Given the description of an element on the screen output the (x, y) to click on. 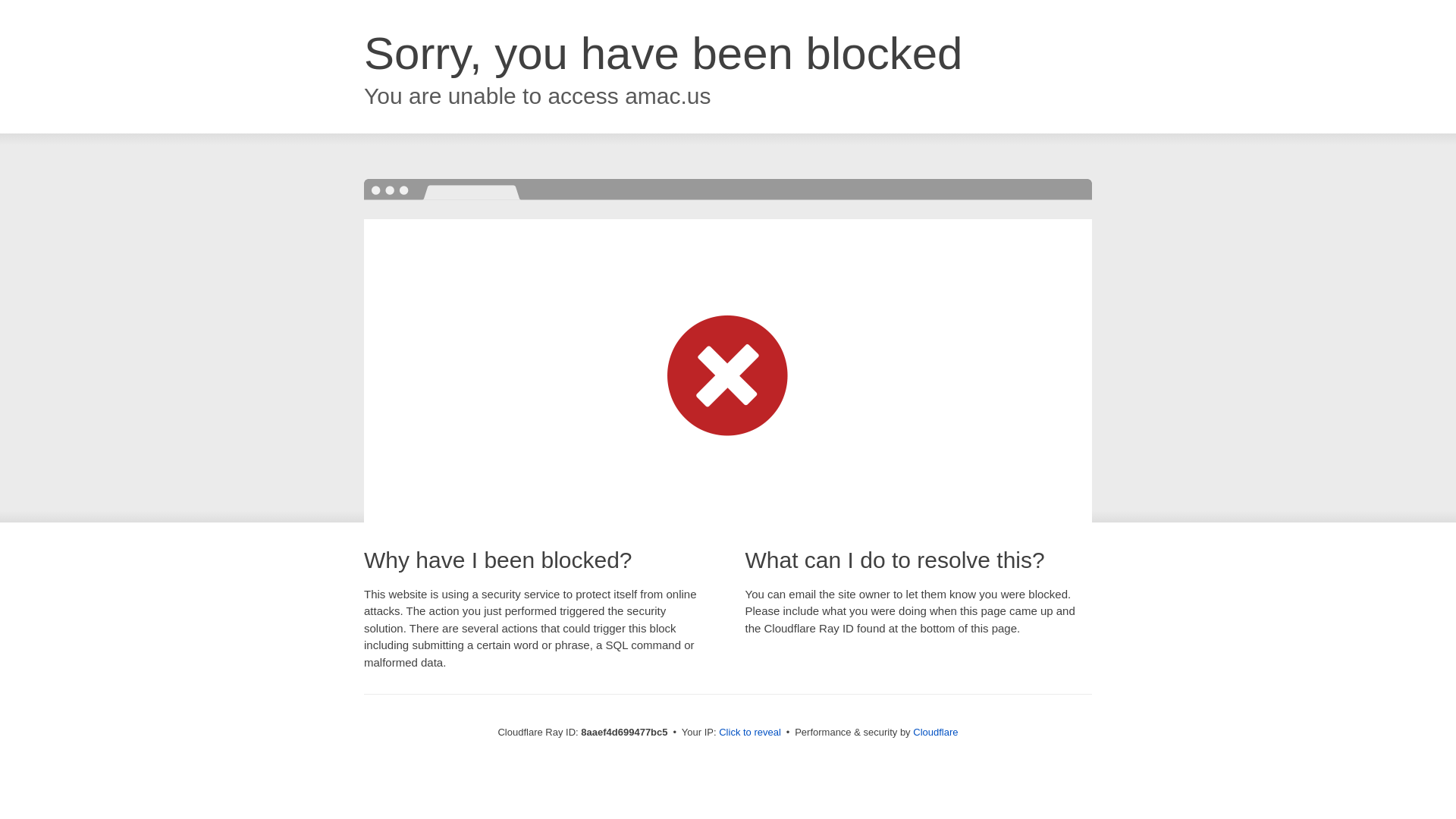
Cloudflare (935, 731)
Click to reveal (749, 732)
